Given the description of an element on the screen output the (x, y) to click on. 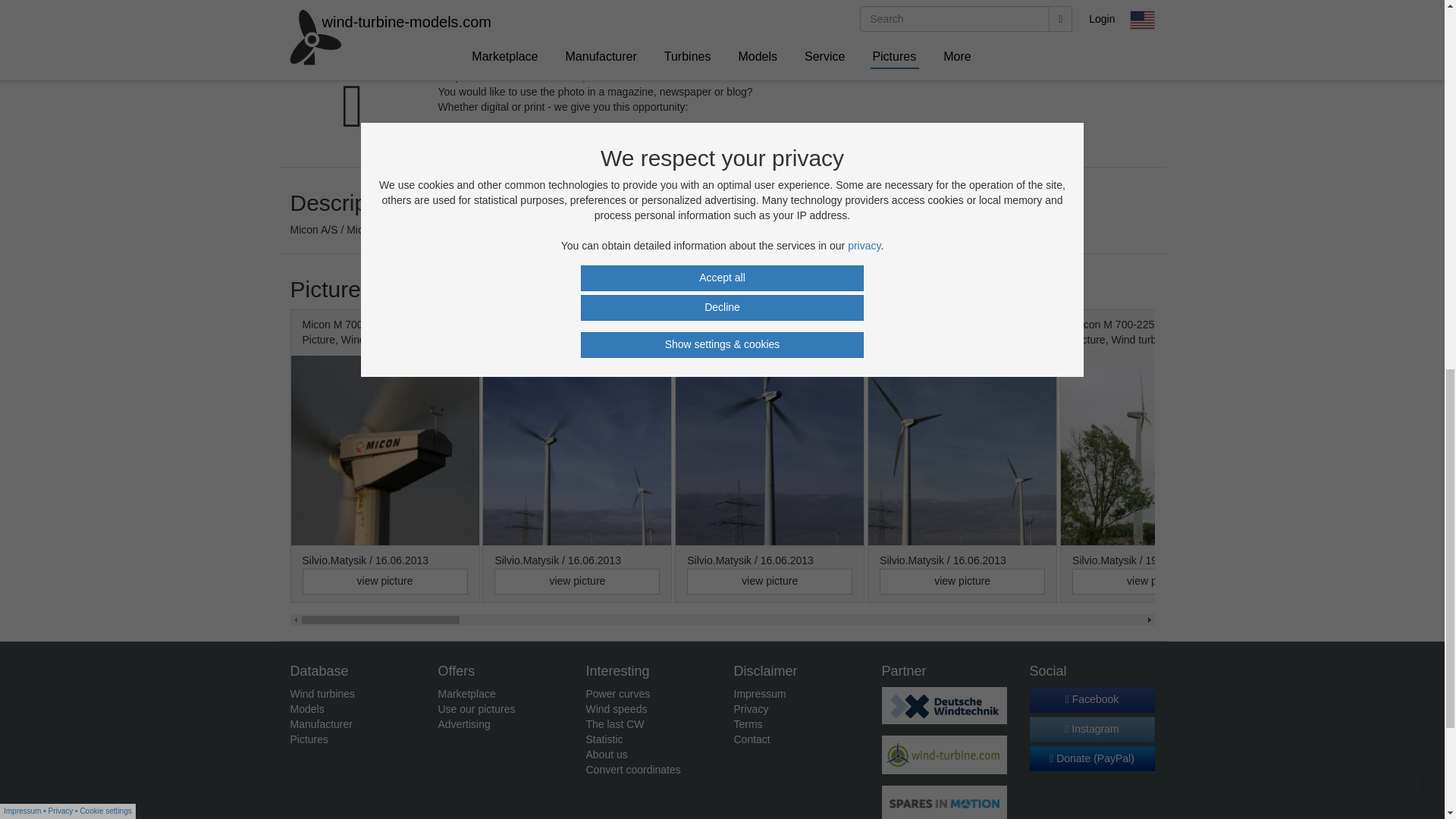
view picture (1347, 581)
view picture (1154, 581)
Learn more (475, 135)
view picture (577, 581)
view picture (769, 581)
view picture (962, 581)
view picture (384, 581)
